Given the description of an element on the screen output the (x, y) to click on. 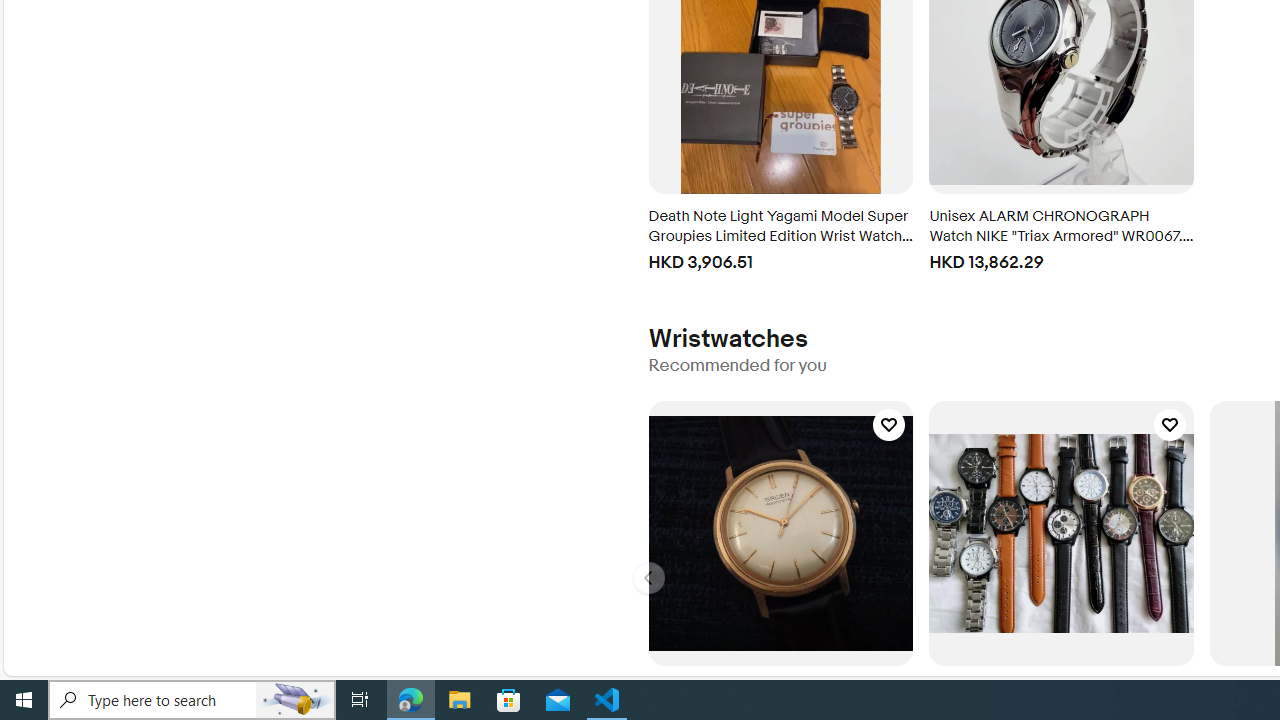
Wristwatches (727, 338)
Go to the previous slide, Wristwatches - Carousel (648, 578)
